Given the description of an element on the screen output the (x, y) to click on. 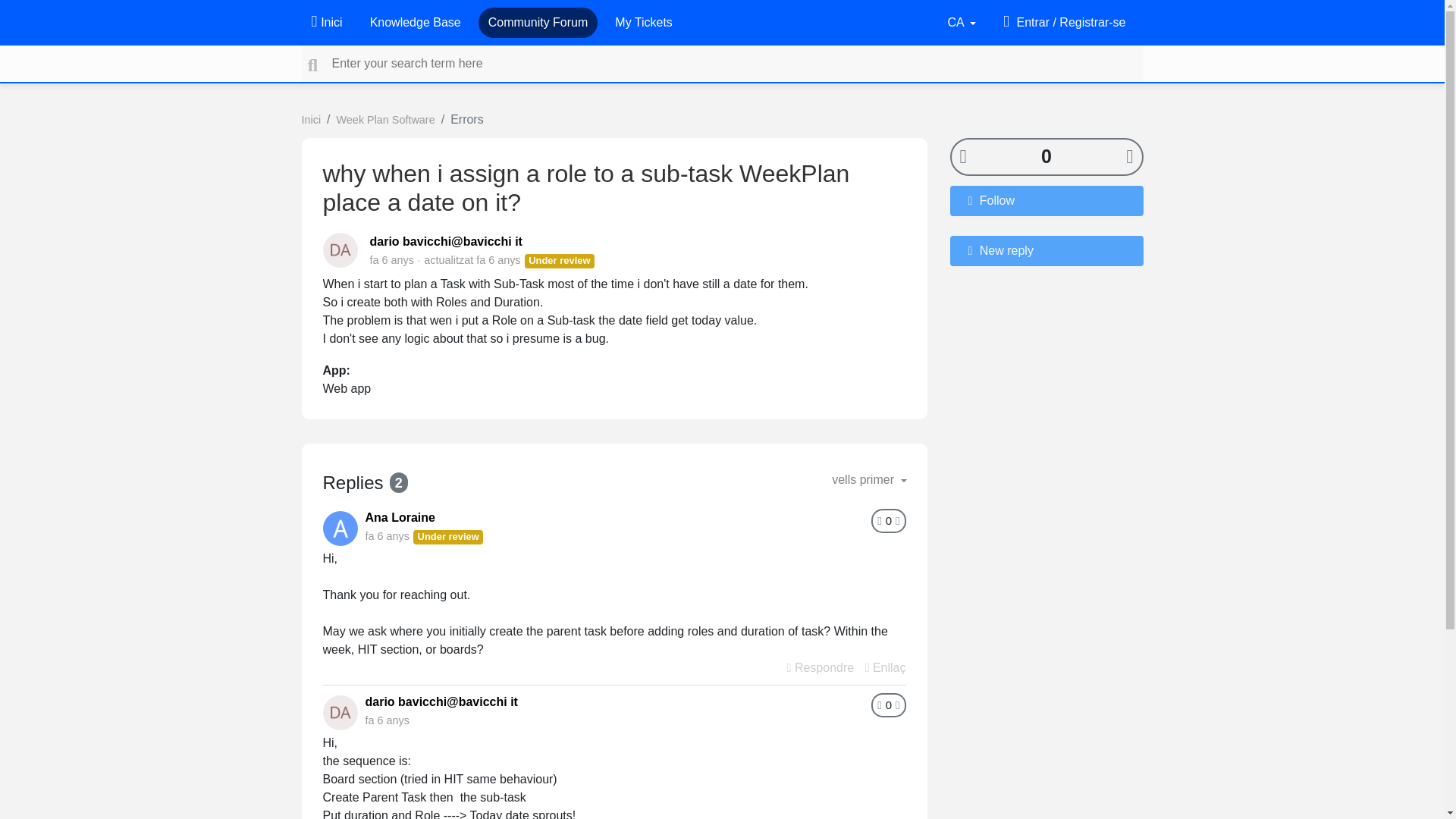
Ana Loraine (400, 517)
Community Forum (537, 22)
16 de setembre de 2018 15:54 (391, 259)
17 de setembre de 2018 4:00 (497, 259)
Follow (1045, 200)
vells primer (869, 480)
Inici (311, 119)
CA (960, 22)
Inici (325, 22)
Knowledge Base (415, 22)
Respondre (820, 667)
Week Plan Software (385, 119)
New reply (1045, 250)
16 de setembre de 2018 16:18 (387, 535)
My Tickets (643, 22)
